Given the description of an element on the screen output the (x, y) to click on. 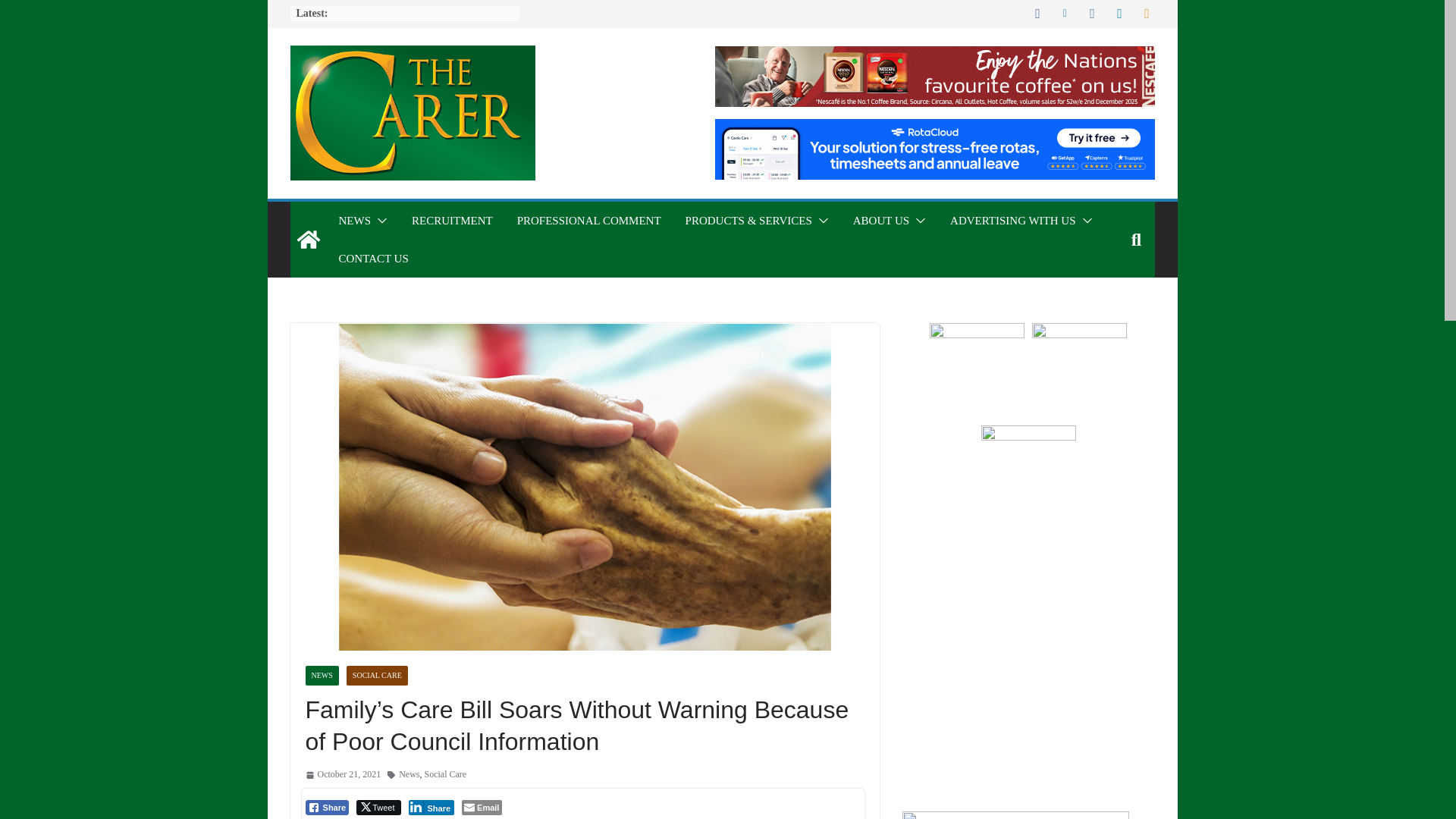
RECRUITMENT (452, 220)
The Carer (307, 239)
NEWS (354, 220)
PROFESSIONAL COMMENT (588, 220)
10:34 am (342, 774)
